Given the description of an element on the screen output the (x, y) to click on. 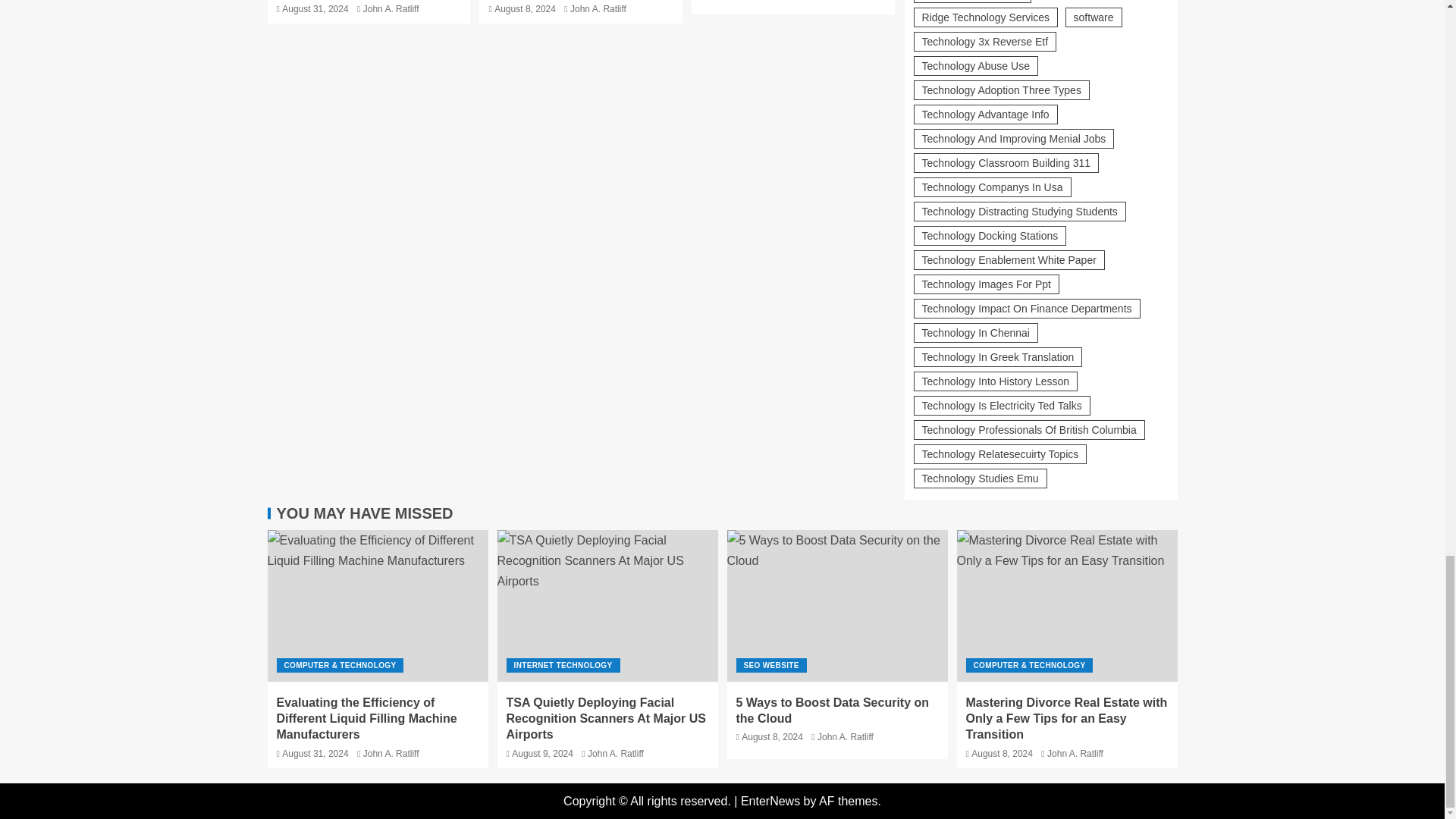
John A. Ratliff (390, 9)
John A. Ratliff (598, 9)
